Given the description of an element on the screen output the (x, y) to click on. 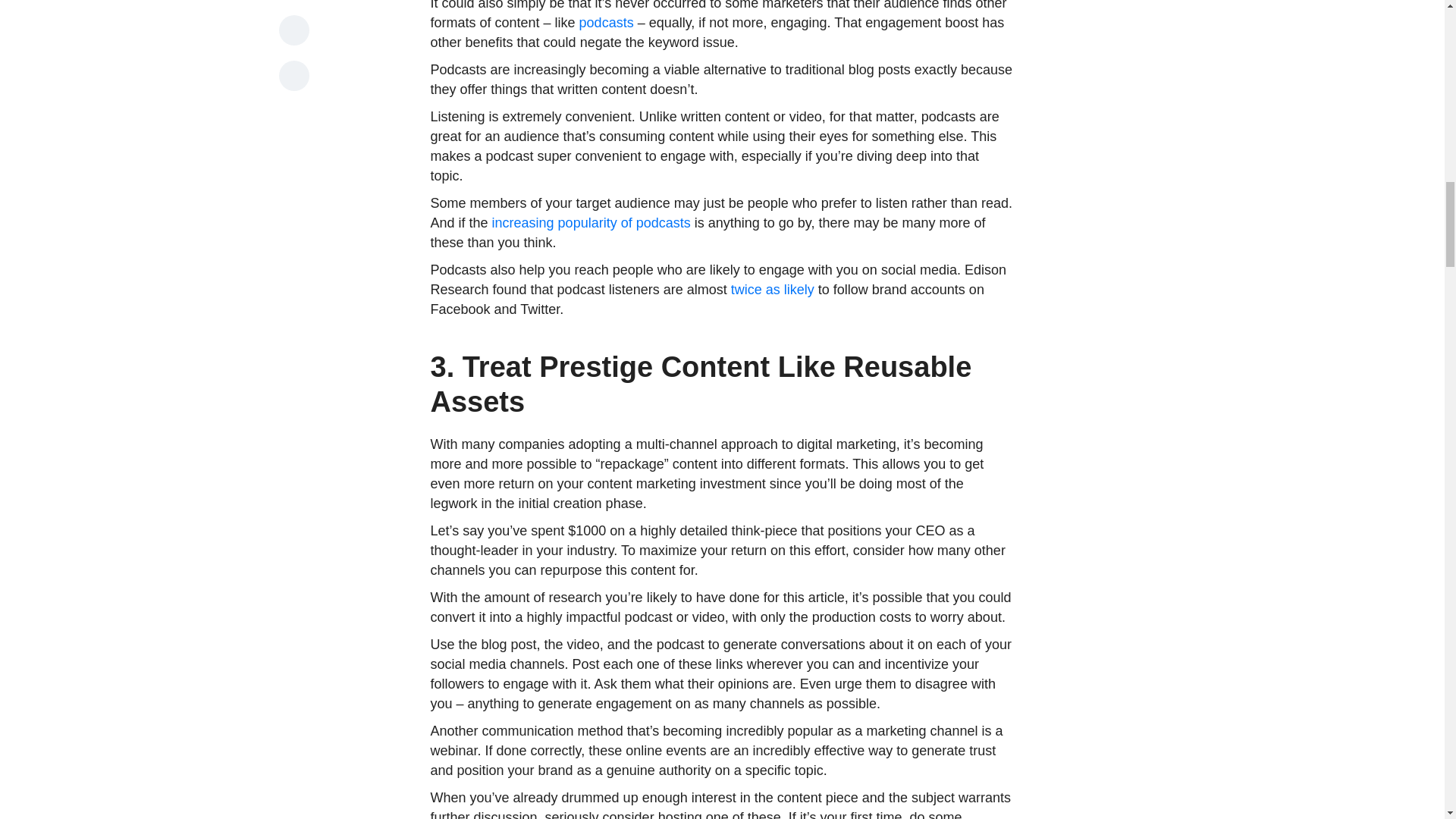
increasing popularity of podcasts (591, 222)
twice as likely (771, 289)
podcasts (606, 22)
